Given the description of an element on the screen output the (x, y) to click on. 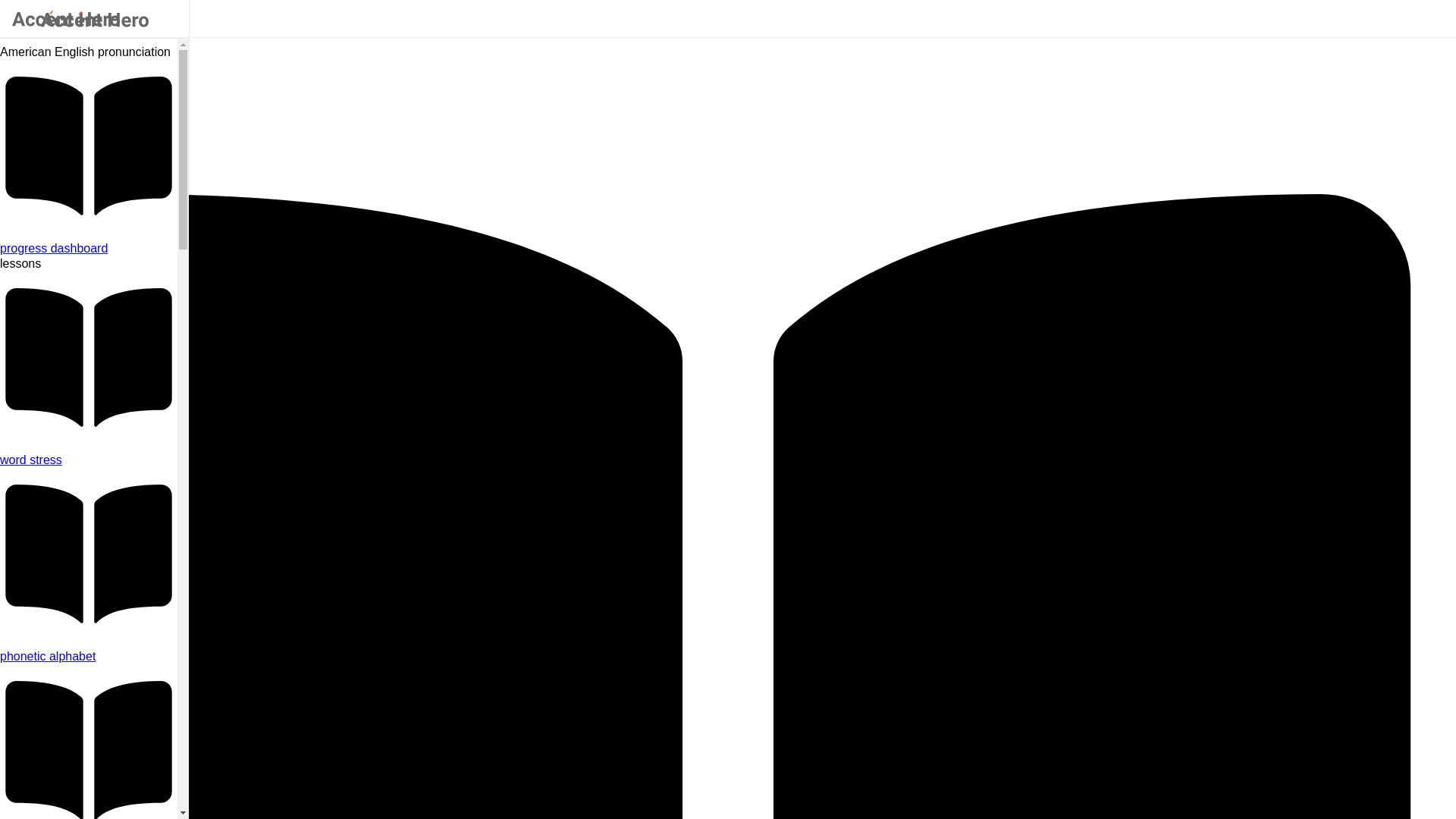
Learn to precisely articulate each sound (88, 656)
Learn how word stress influences your accent (88, 459)
